Given the description of an element on the screen output the (x, y) to click on. 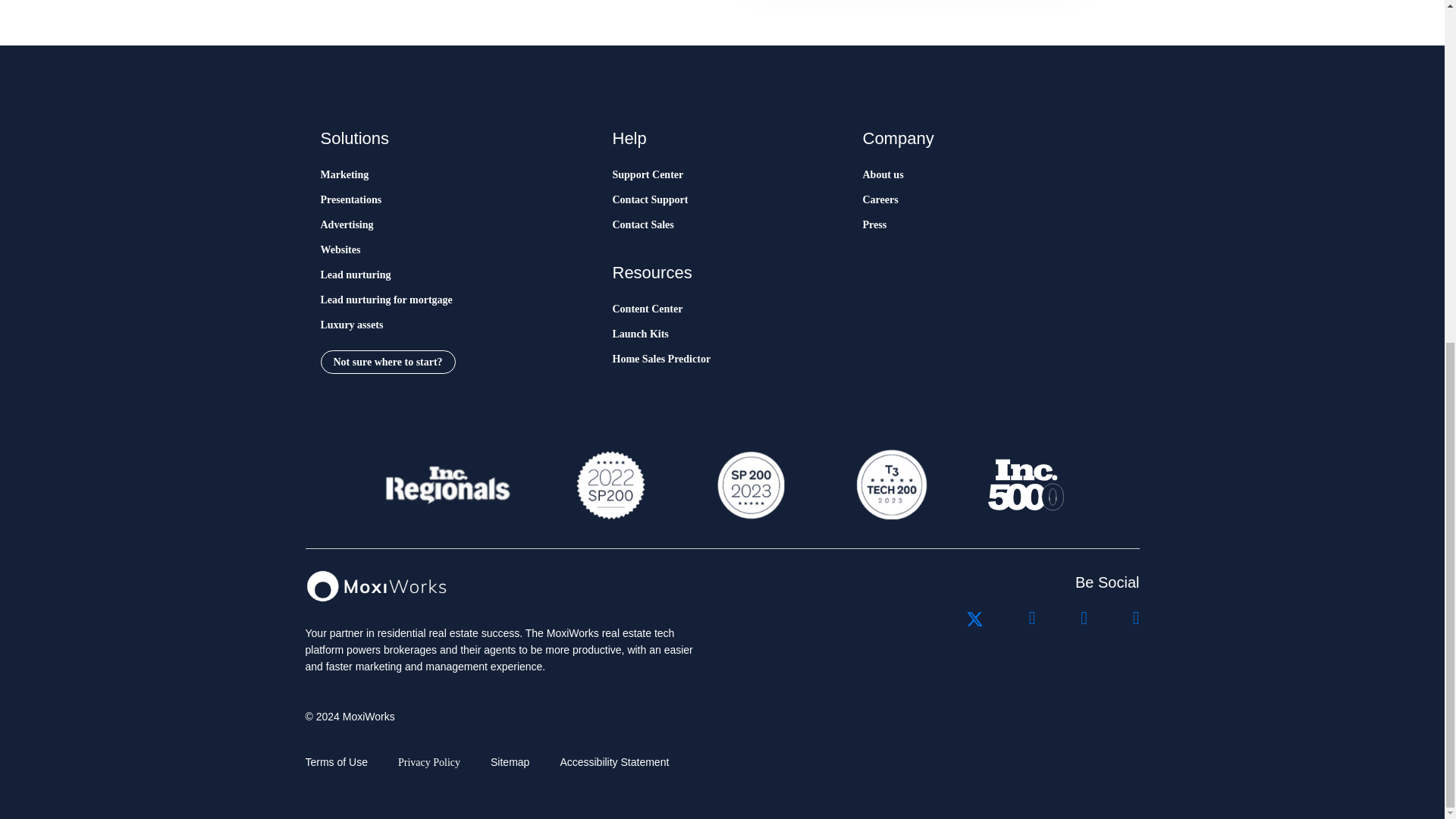
T3 tech 200 2023 (890, 484)
SP 2023 (749, 484)
SP 2022 (610, 484)
